Given the description of an element on the screen output the (x, y) to click on. 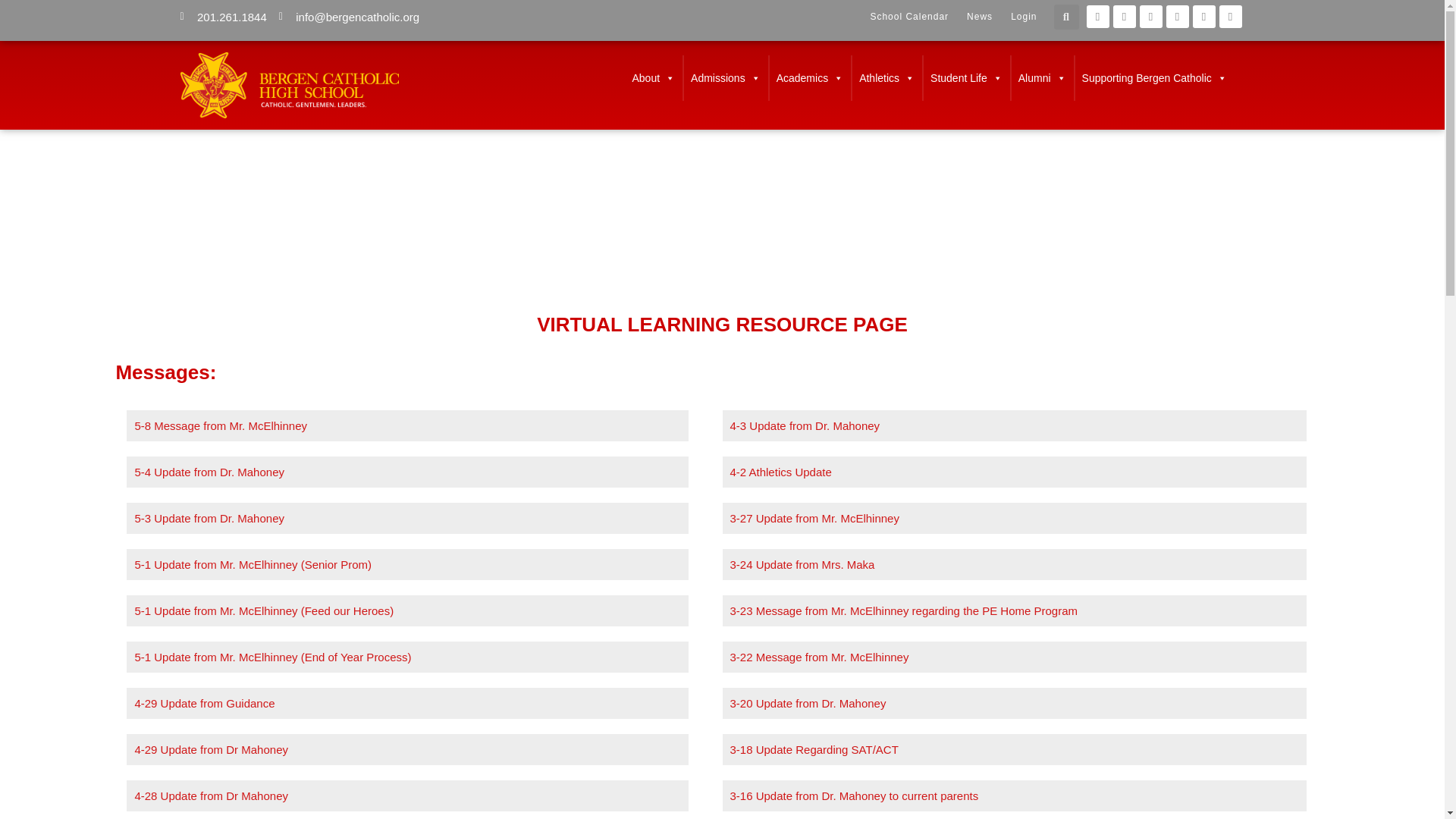
School Calendar (909, 16)
Login (1023, 16)
Academics (809, 77)
Admissions (725, 77)
About (653, 77)
News (979, 16)
